Given the description of an element on the screen output the (x, y) to click on. 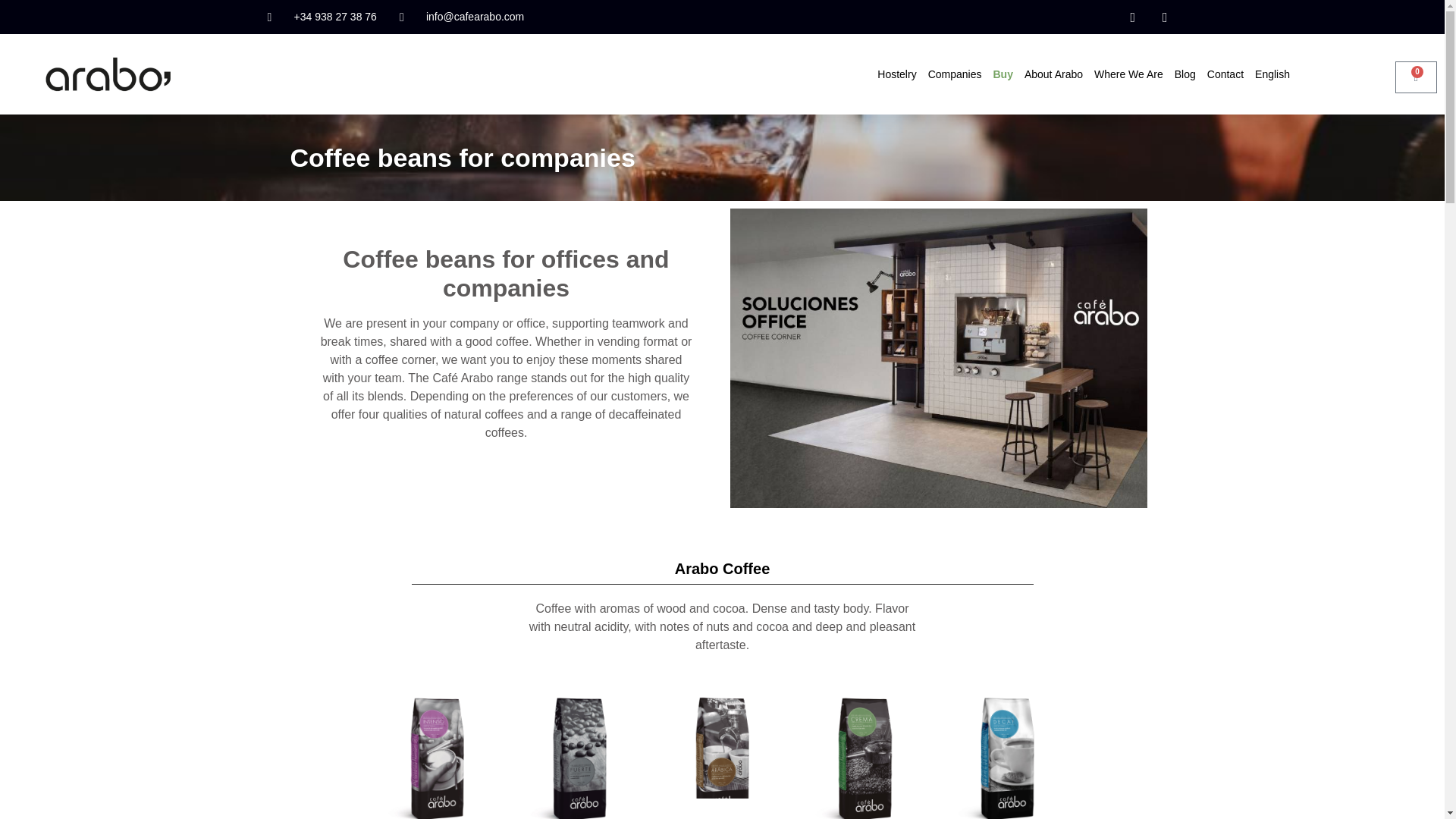
Hostelry (896, 73)
Companies (954, 73)
Where We Are (1128, 73)
English (1272, 73)
About Arabo (1054, 73)
